Given the description of an element on the screen output the (x, y) to click on. 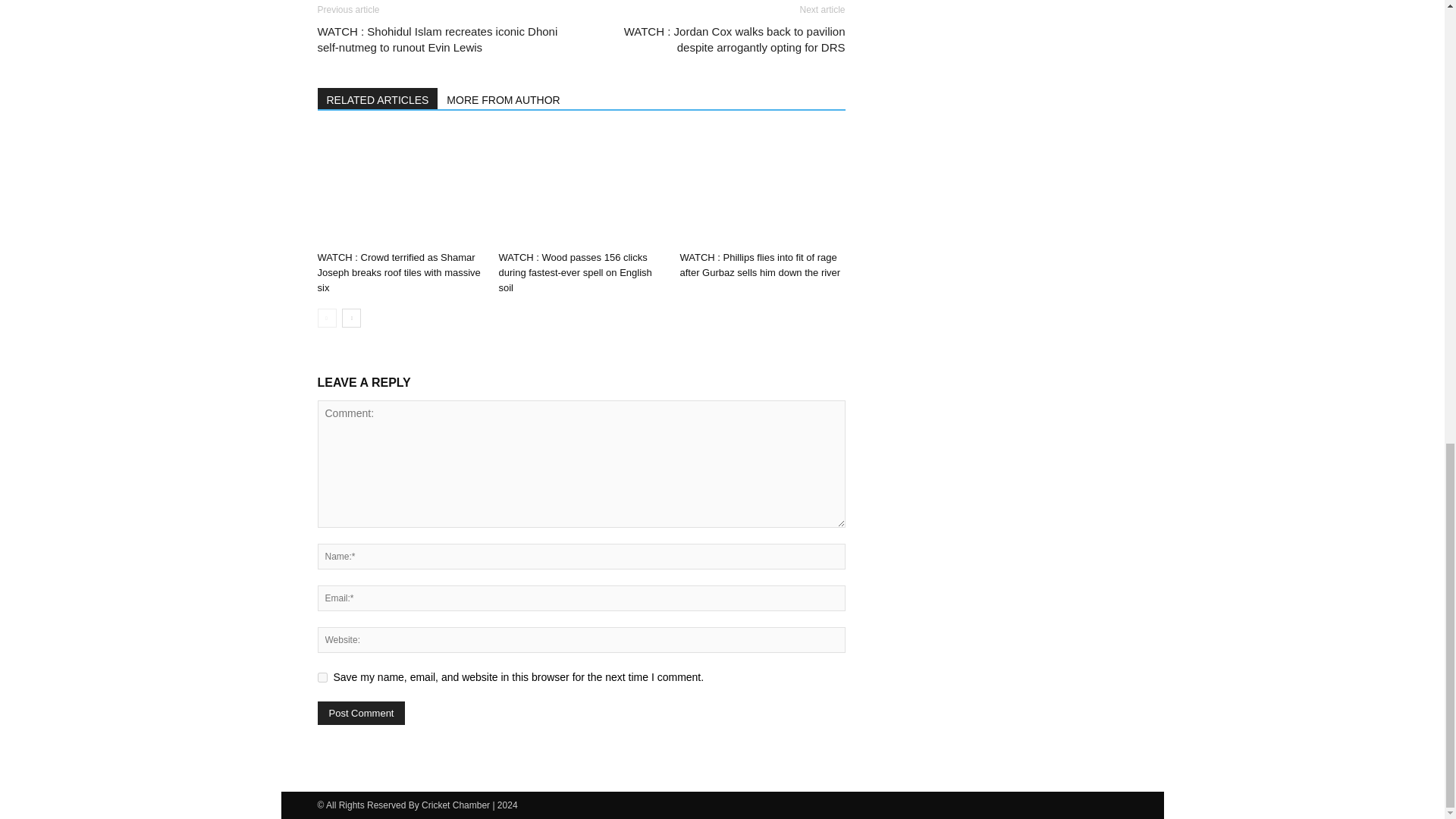
Post Comment (360, 712)
MORE FROM AUTHOR (503, 97)
yes (321, 677)
RELATED ARTICLES (377, 97)
